Given the description of an element on the screen output the (x, y) to click on. 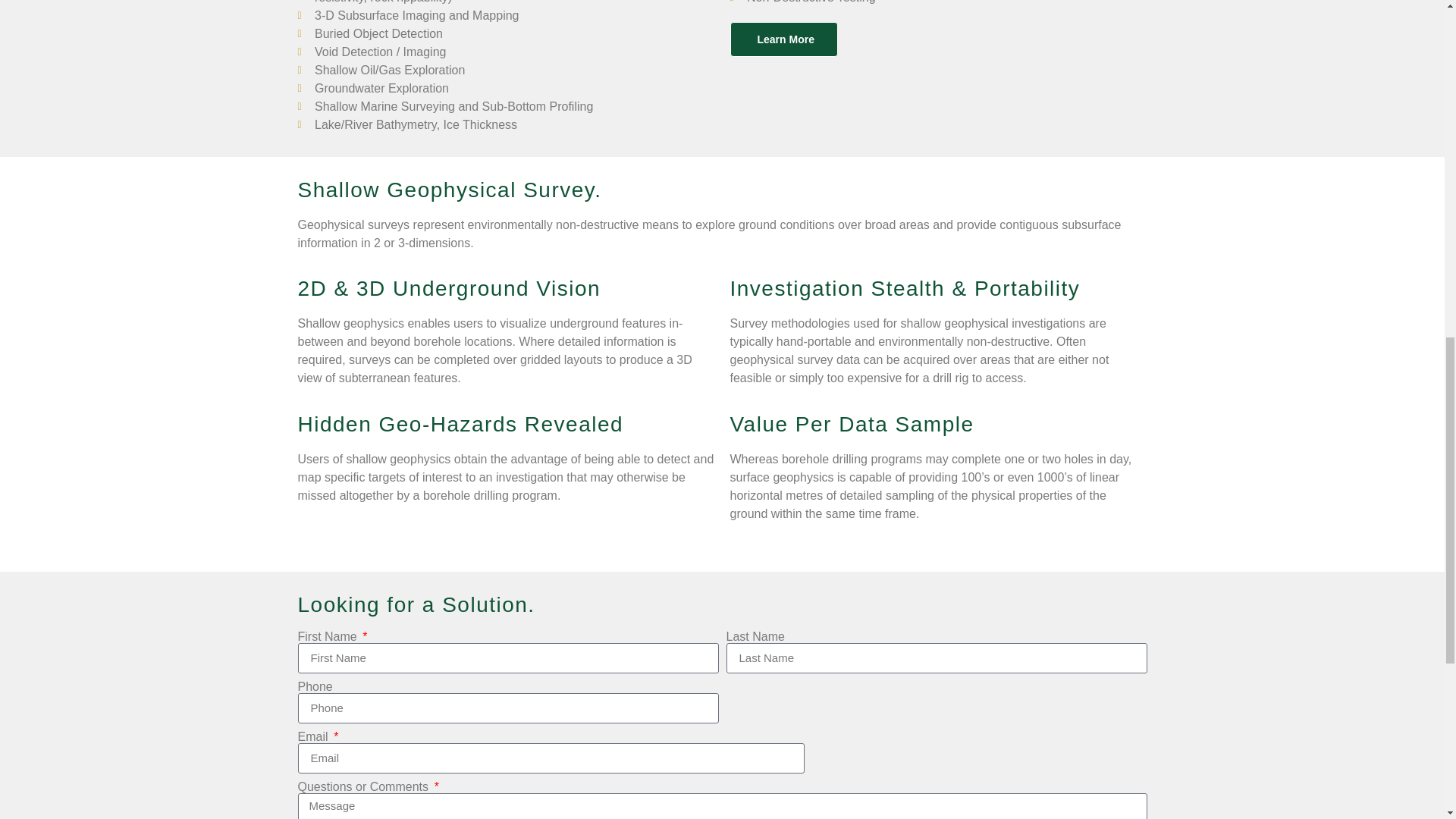
Learn More (783, 39)
